Given the description of an element on the screen output the (x, y) to click on. 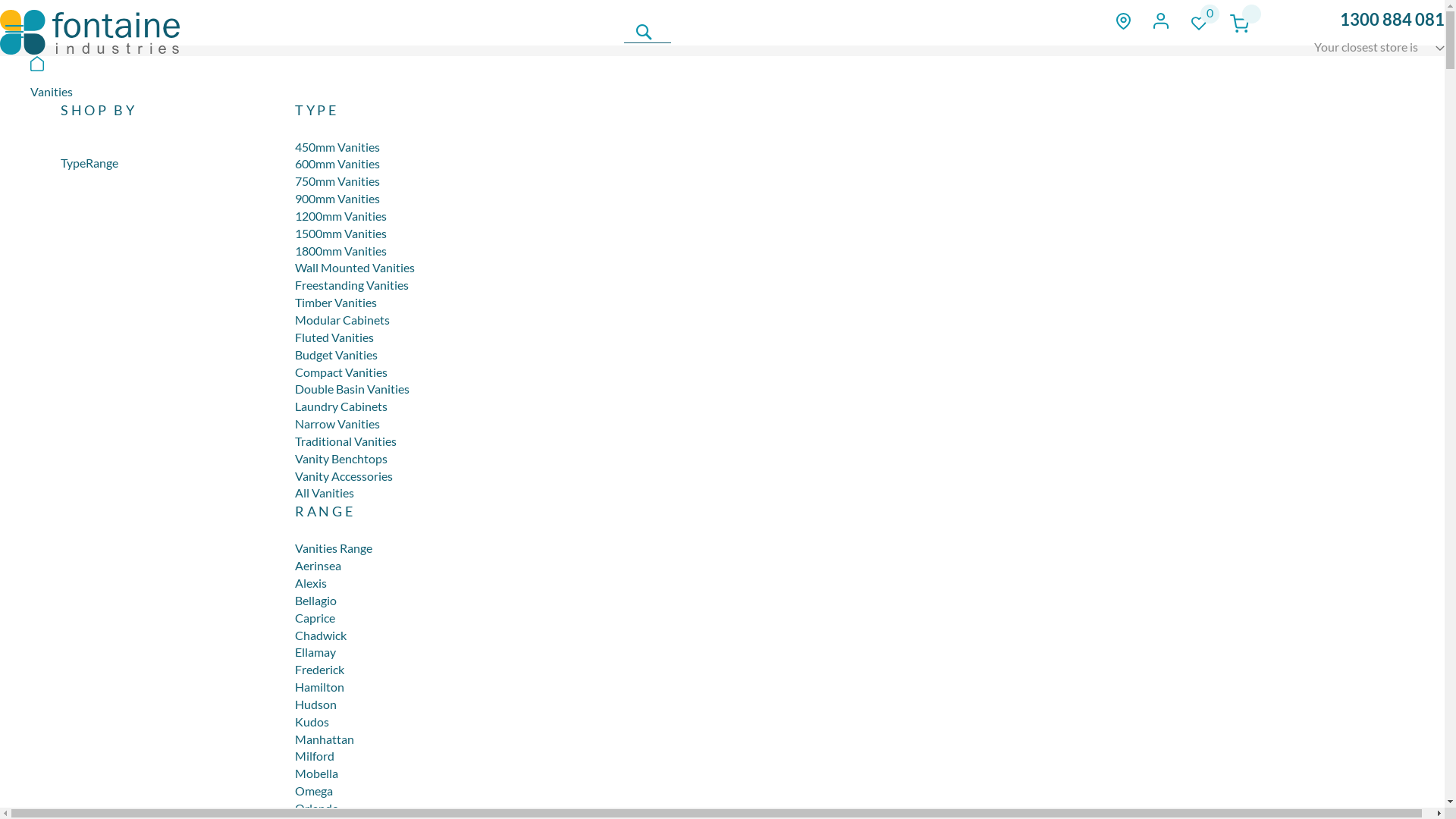
Hudson Element type: text (315, 703)
Budget Vanities Element type: text (335, 354)
Timber Vanities Element type: text (335, 301)
Compact Vanities Element type: text (340, 371)
1500mm Vanities Element type: text (340, 232)
Frederick Element type: text (319, 669)
750mm Vanities Element type: text (336, 180)
Narrow Vanities Element type: text (336, 423)
1800mm Vanities Element type: text (340, 250)
Aerinsea Element type: text (317, 565)
Orlando Element type: text (316, 807)
My Cart Element type: text (1239, 23)
Vanities Range Element type: text (333, 547)
Vanities Element type: text (51, 91)
Modular Cabinets Element type: text (341, 319)
Freestanding Vanities Element type: text (351, 284)
Milford Element type: text (314, 755)
1200mm Vanities Element type: text (340, 215)
All Vanities Element type: text (324, 492)
Mobella Element type: text (316, 772)
Ellamay Element type: text (314, 651)
Laundry Cabinets Element type: text (340, 405)
Alexis Element type: text (310, 582)
bathroom supplies Element type: hover (89, 31)
Caprice Element type: text (314, 617)
Type Element type: text (72, 162)
Manhattan Element type: text (324, 738)
Vanity Accessories Element type: text (343, 475)
Account Element type: hover (1160, 20)
Double Basin Vanities Element type: text (351, 388)
location Element type: hover (1123, 20)
Kudos Element type: text (311, 721)
Range Element type: text (101, 162)
Traditional Vanities Element type: text (345, 440)
Hamilton Element type: text (319, 686)
Vanity Benchtops Element type: text (340, 458)
Wall Mounted Vanities Element type: text (354, 267)
1300 884 081 Element type: text (1391, 19)
Omega Element type: text (313, 790)
Bellagio Element type: text (315, 600)
Fluted Vanities Element type: text (333, 336)
Chadwick Element type: text (320, 634)
900mm Vanities Element type: text (336, 198)
450mm Vanities Element type: text (336, 146)
600mm Vanities Element type: text (336, 163)
